Given the description of an element on the screen output the (x, y) to click on. 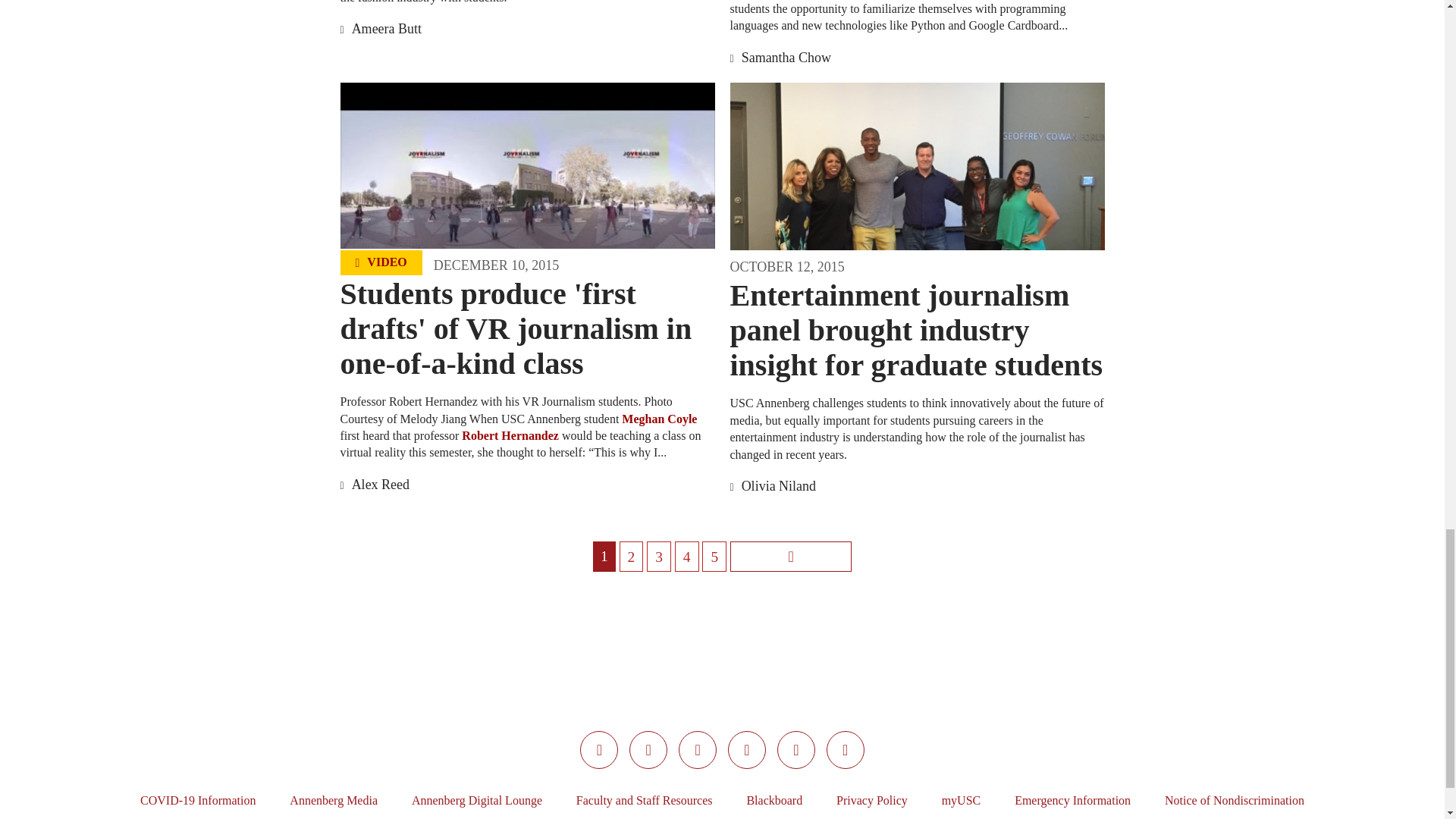
Go to next page (790, 556)
